Given the description of an element on the screen output the (x, y) to click on. 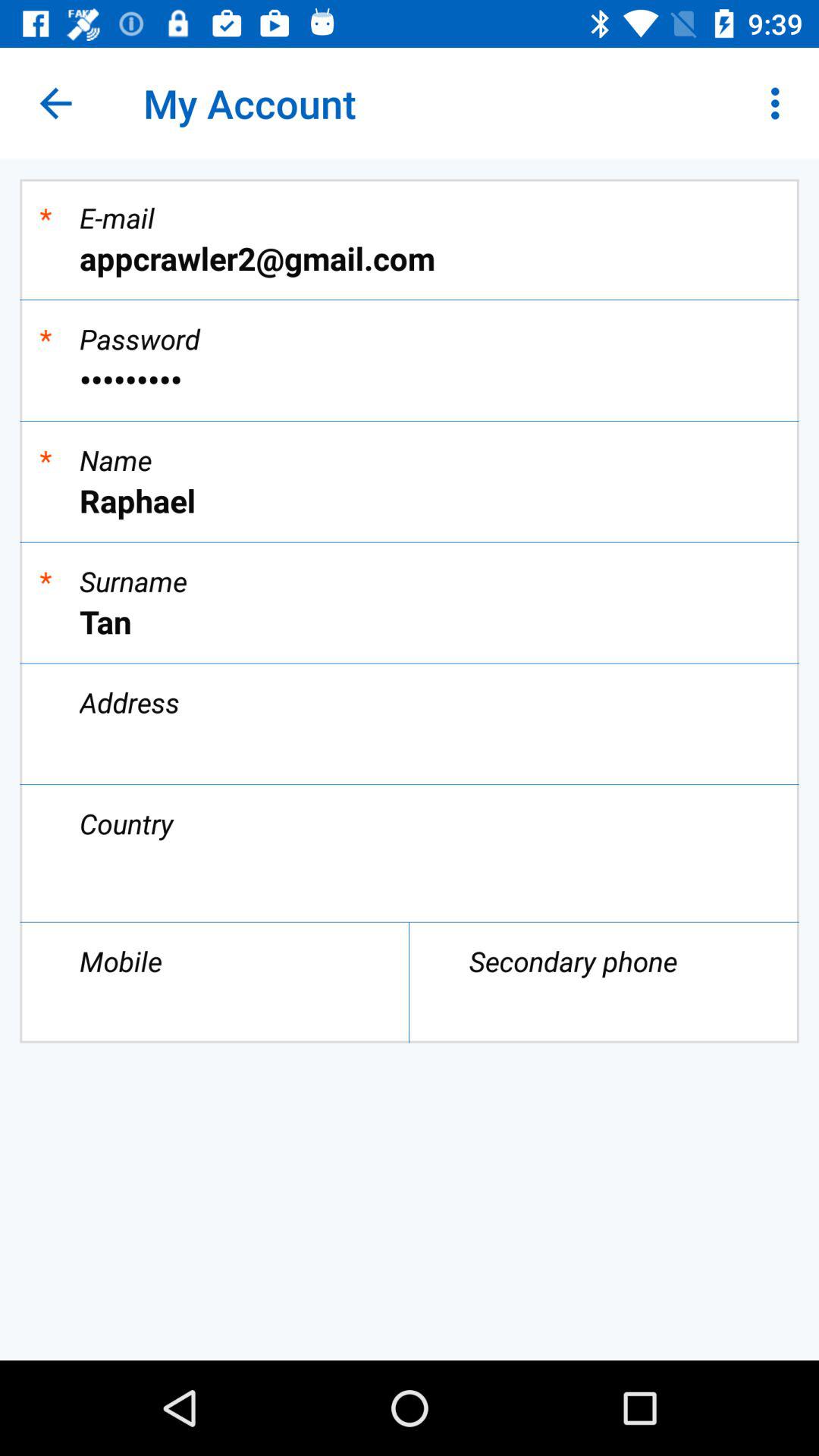
select the icon to the left of the my account (55, 103)
